Given the description of an element on the screen output the (x, y) to click on. 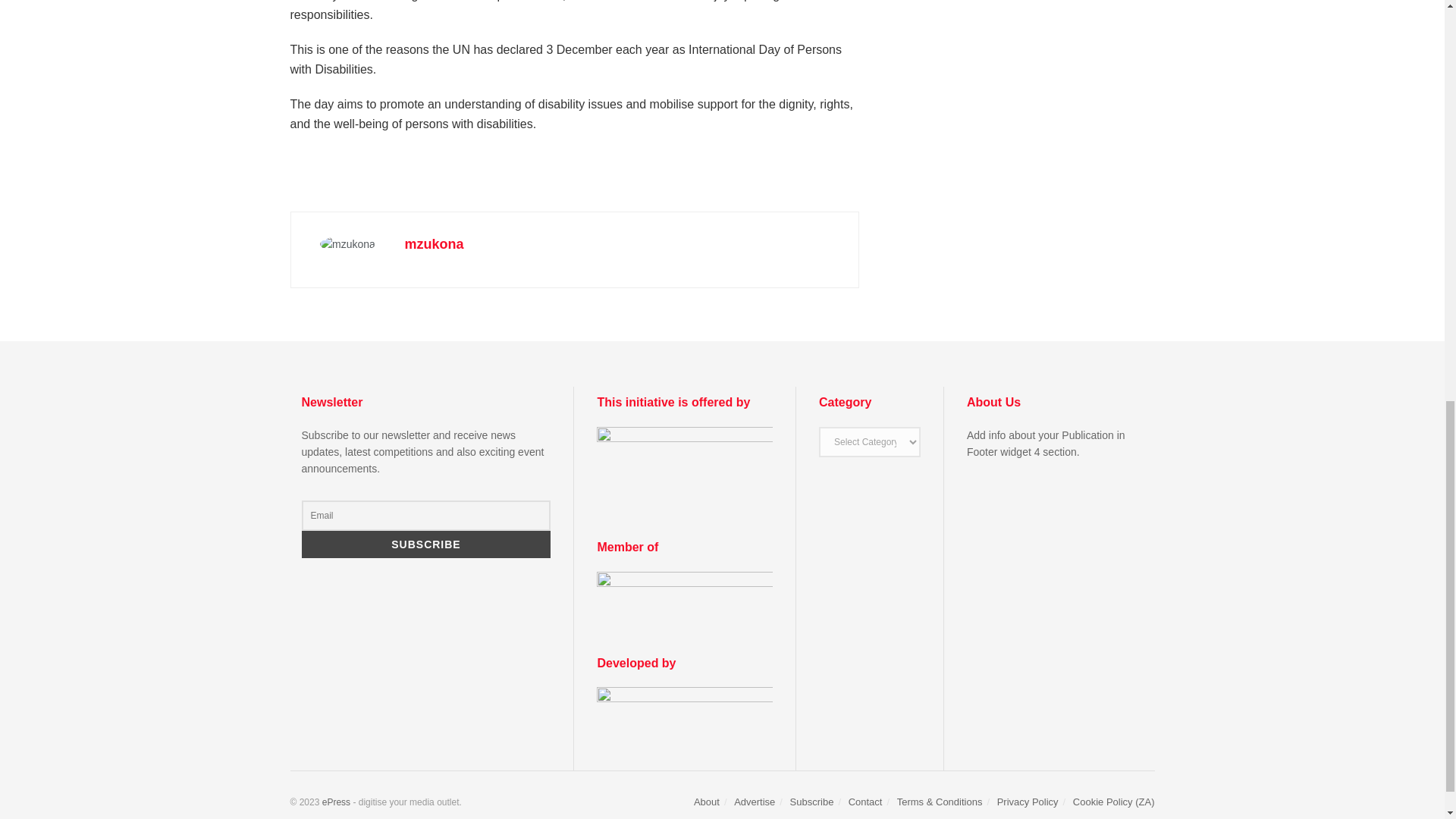
Subscribe (426, 543)
Developed by (684, 713)
Newspaper portal (335, 801)
